Given the description of an element on the screen output the (x, y) to click on. 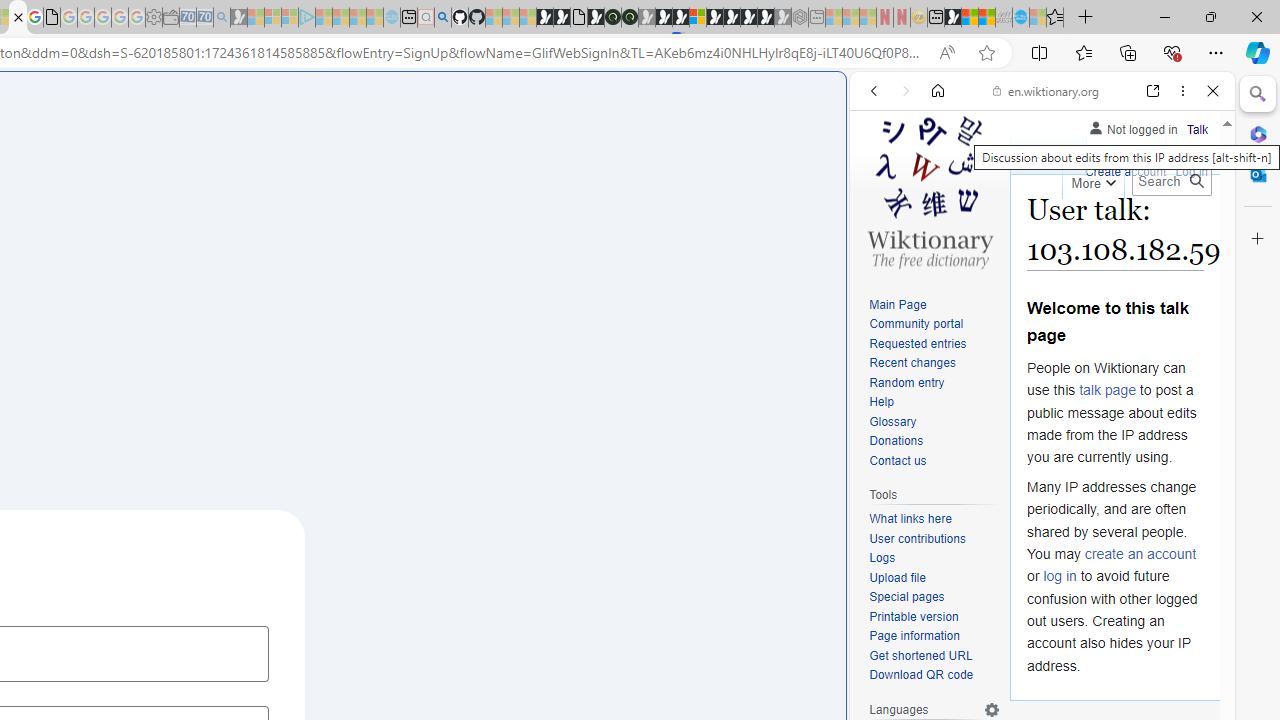
Upload file (934, 578)
talk page (1107, 390)
Contributions (1098, 148)
User page (1048, 154)
Download QR code (934, 676)
Recent changes (934, 363)
Wiktionary (1034, 669)
en.wiktionary.org (1046, 90)
Contact us (934, 461)
